Given the description of an element on the screen output the (x, y) to click on. 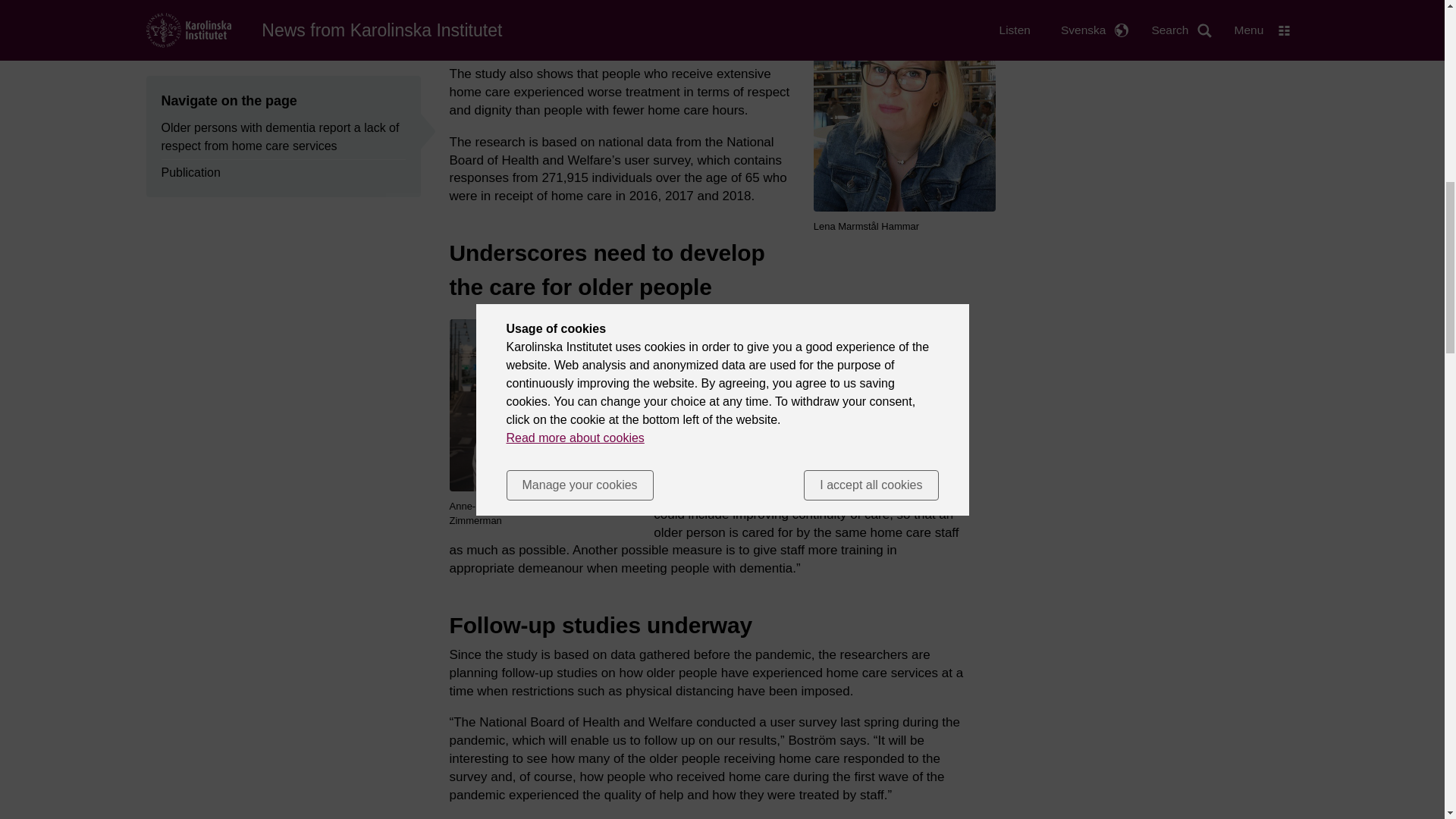
Department of Neurobiology, Care Sciences and Society (796, 486)
